Given the description of an element on the screen output the (x, y) to click on. 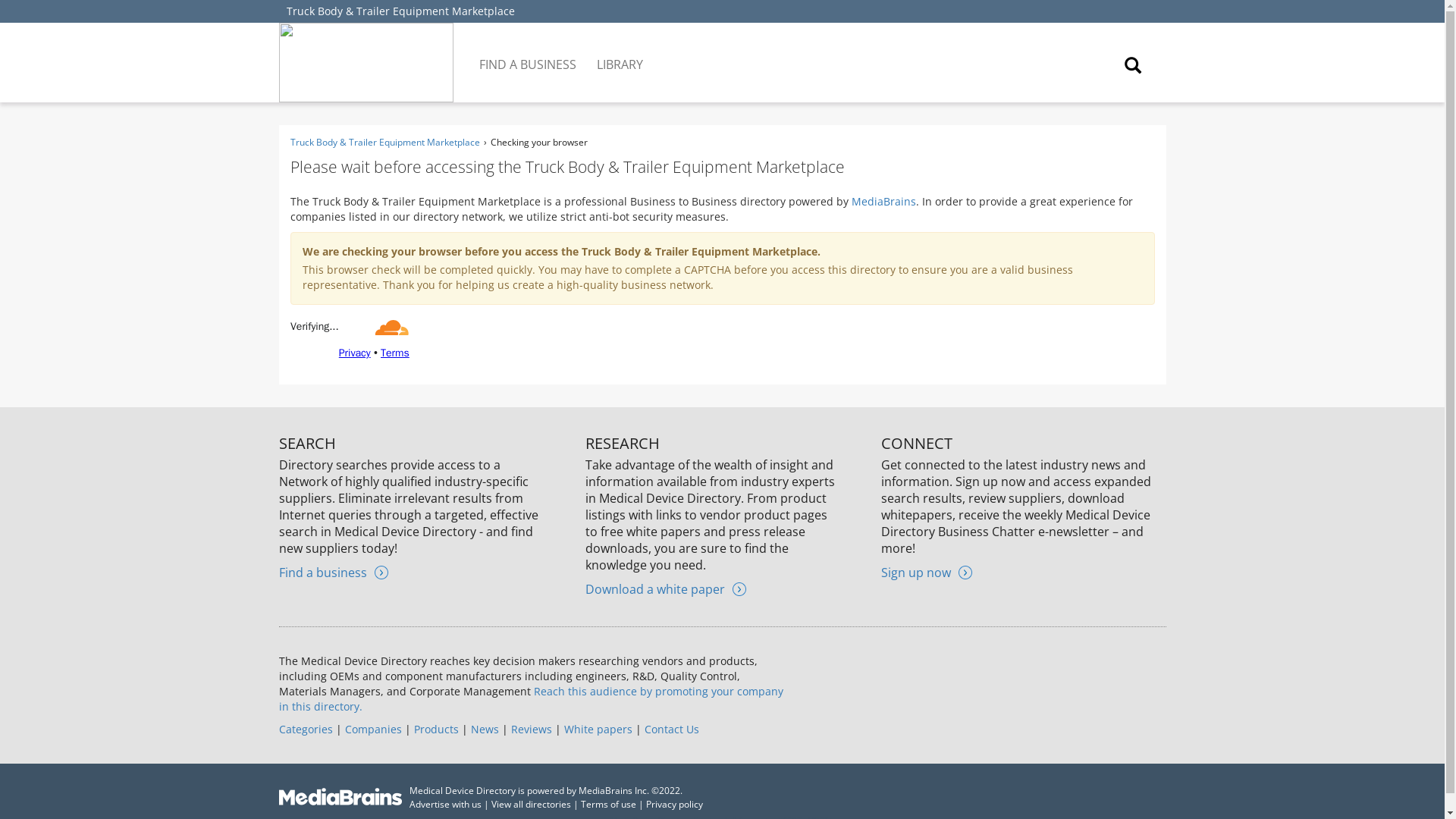
Companies (372, 728)
Download a white paper (665, 588)
Privacy policy (674, 803)
MediaBrains (882, 201)
Contact Us (671, 728)
Advertise with us (445, 803)
News (483, 728)
LIBRARY (620, 52)
Sign up now (926, 572)
Reviews (531, 728)
White papers (597, 728)
View all directories (531, 803)
Terms of use (608, 803)
Categories (306, 728)
Products (435, 728)
